Given the description of an element on the screen output the (x, y) to click on. 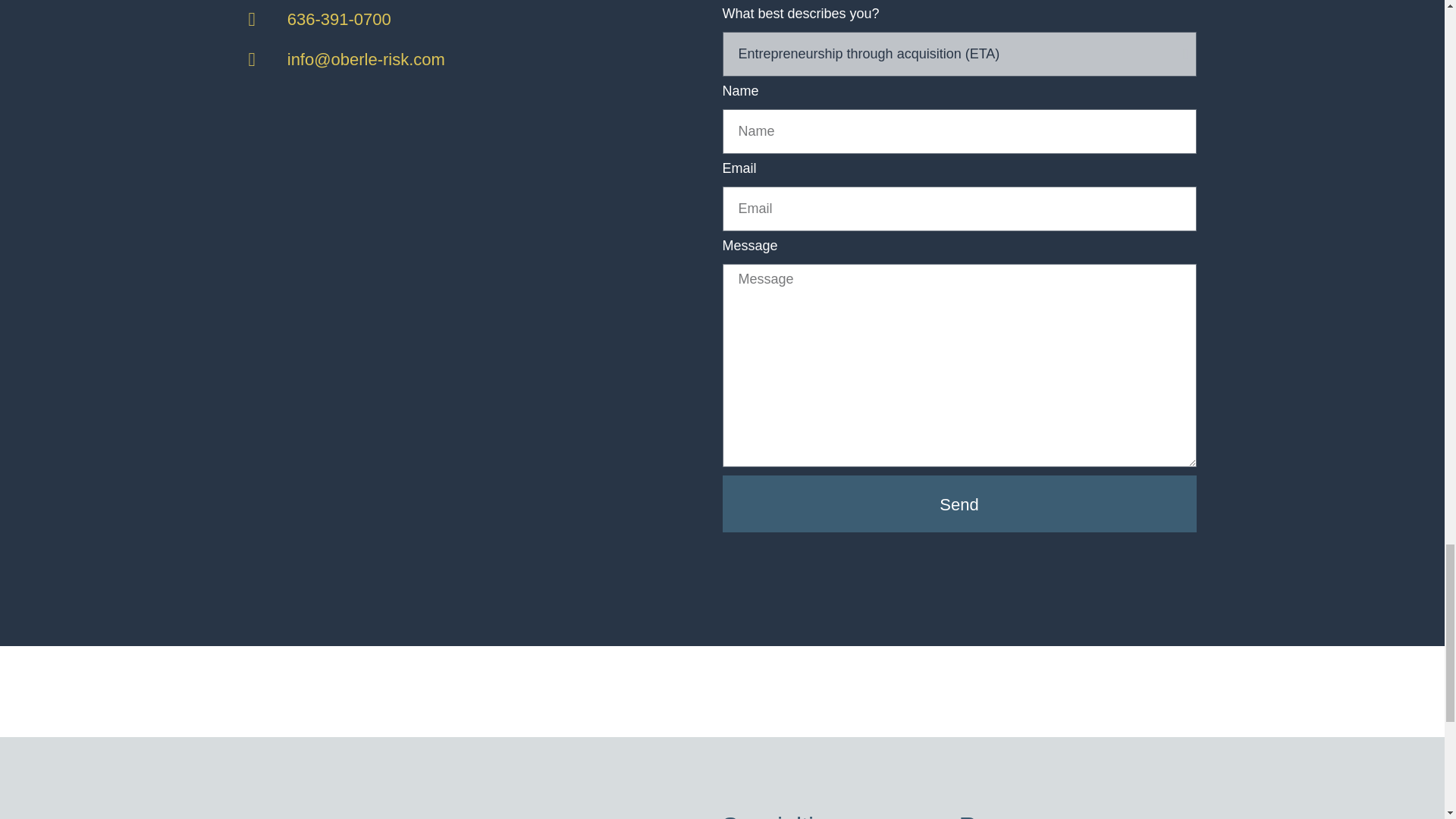
636-391-0700 (466, 18)
Send (958, 503)
8820 Ladue Road, Suite 302 St. Louis, MO 63124 (466, 250)
